Given the description of an element on the screen output the (x, y) to click on. 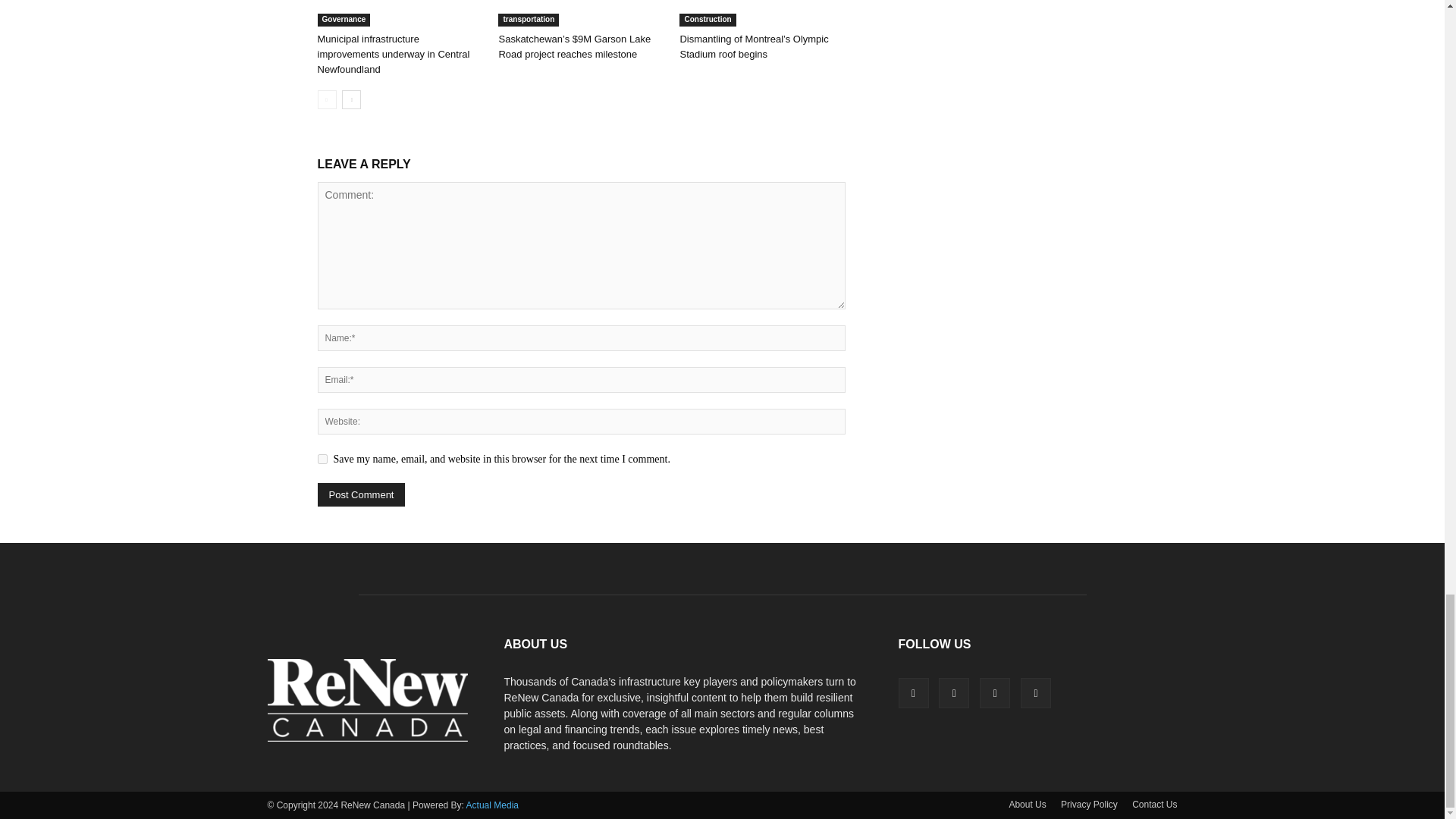
yes (321, 459)
Post Comment (360, 494)
